Given the description of an element on the screen output the (x, y) to click on. 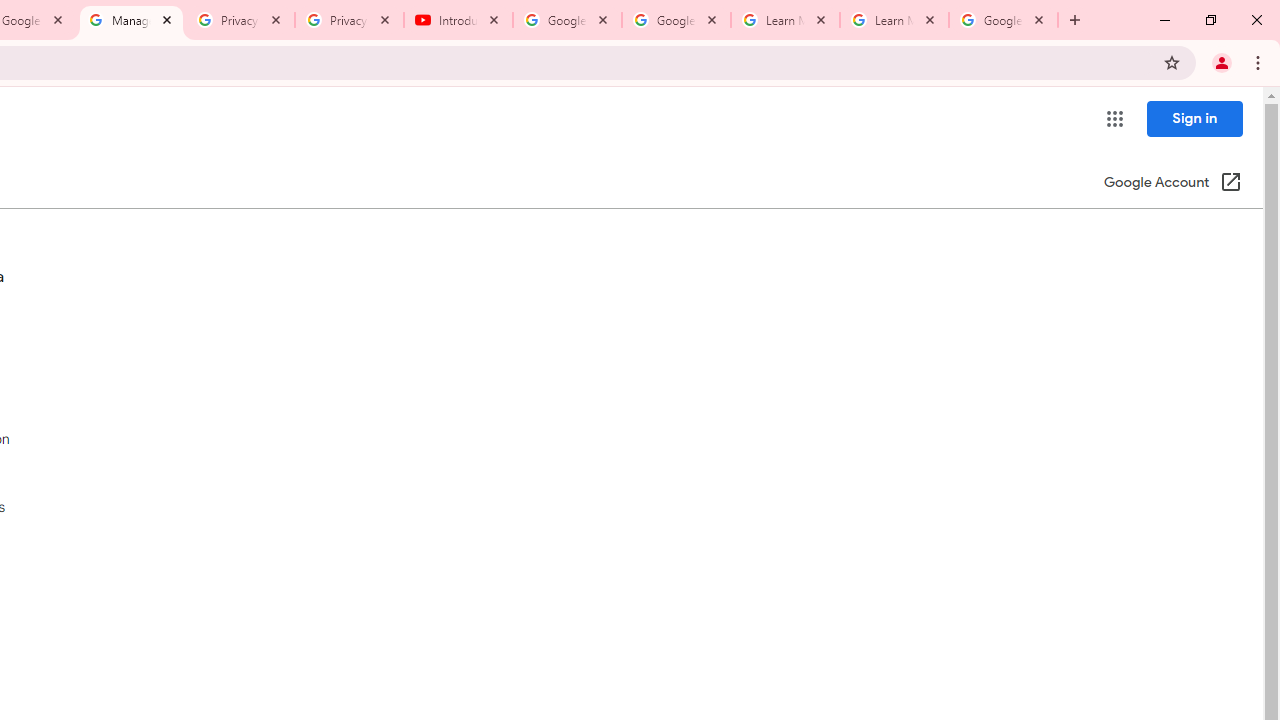
Introduction | Google Privacy Policy - YouTube (458, 20)
Google Account Help (676, 20)
Google Account Help (567, 20)
Google Account (Open in a new window) (1172, 183)
